Given the description of an element on the screen output the (x, y) to click on. 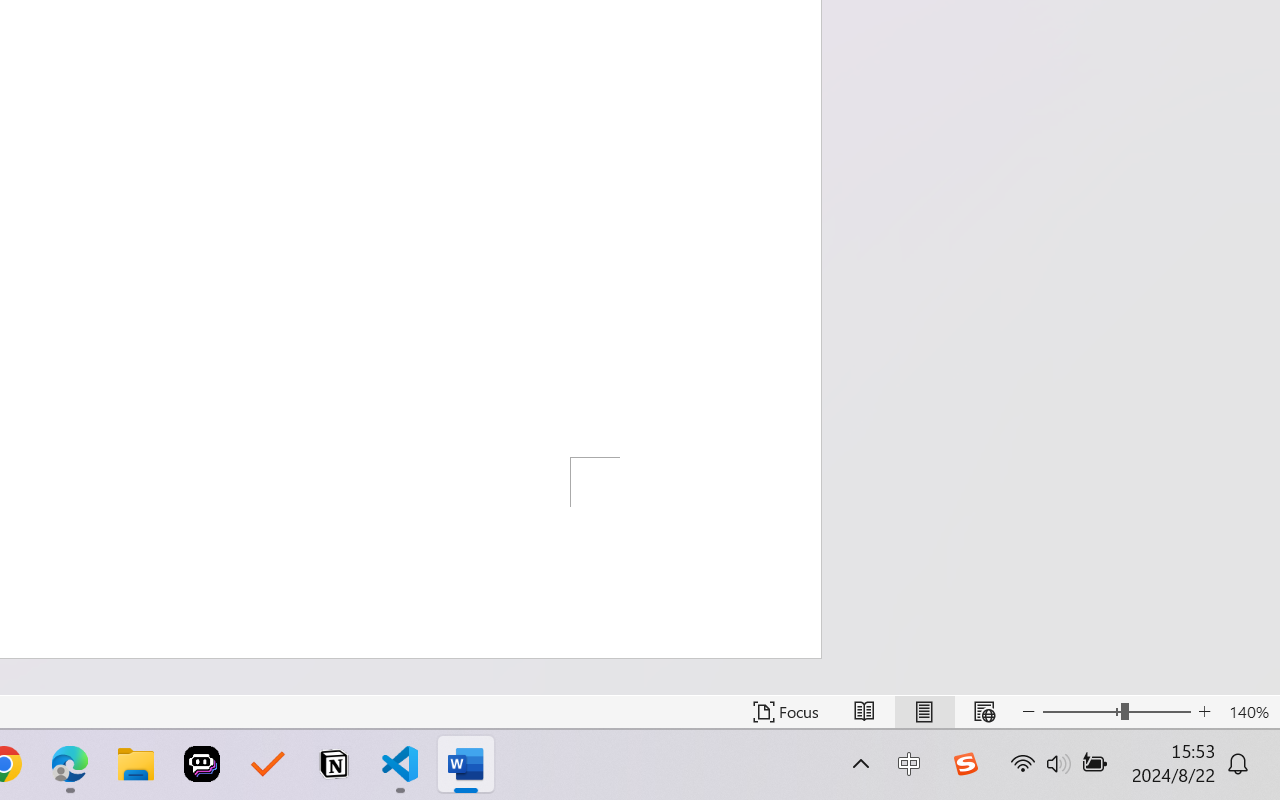
Print Layout (924, 712)
Poe (201, 764)
Zoom Out (1081, 712)
Zoom In (1204, 712)
